Given the description of an element on the screen output the (x, y) to click on. 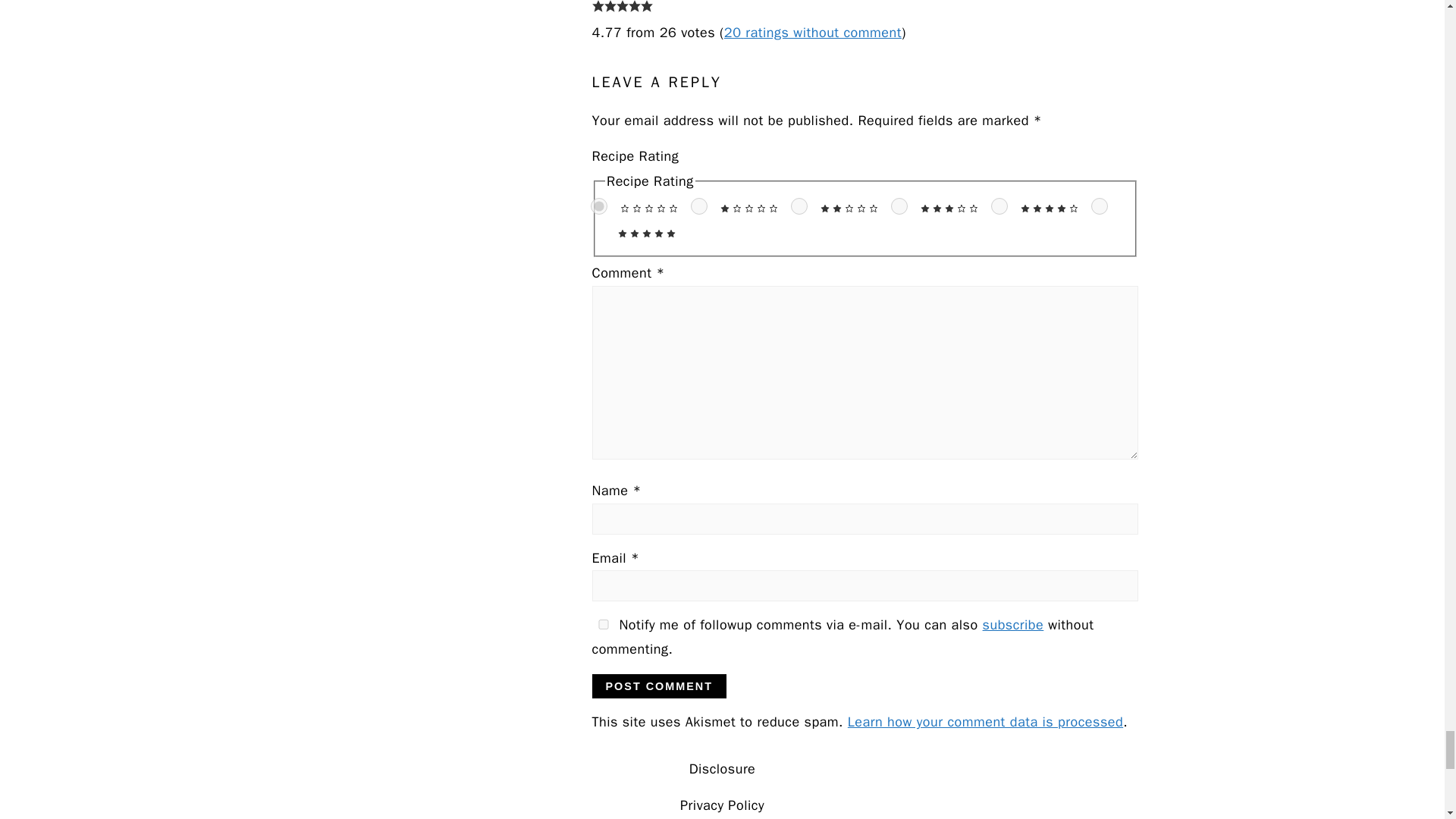
4 (999, 206)
3 (899, 206)
5 (1099, 206)
2 (799, 206)
Post Comment (658, 686)
0 (599, 206)
yes (602, 624)
1 (698, 206)
